Given the description of an element on the screen output the (x, y) to click on. 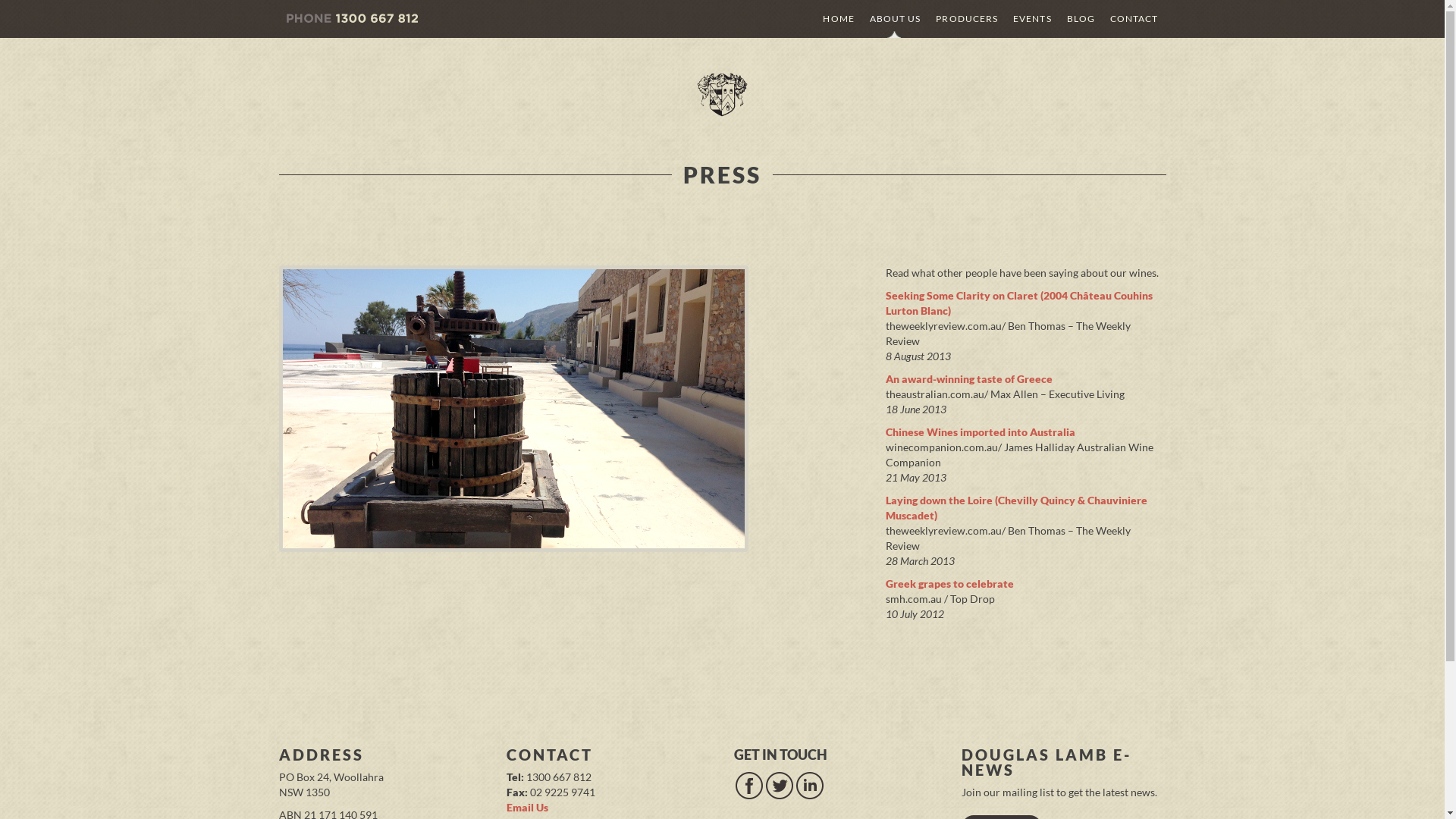
CONTACT Element type: text (1134, 18)
PRODUCERS Element type: text (966, 18)
Greek grapes to celebrate Element type: text (949, 583)
Email Us Element type: text (527, 806)
BLOG Element type: text (1080, 18)
EVENTS Element type: text (1031, 18)
HOME Element type: text (838, 18)
Chinese Wines imported into Australia Element type: text (980, 431)
An award-winning taste of Greece Element type: text (968, 378)
ABOUT US Element type: text (895, 18)
